Given the description of an element on the screen output the (x, y) to click on. 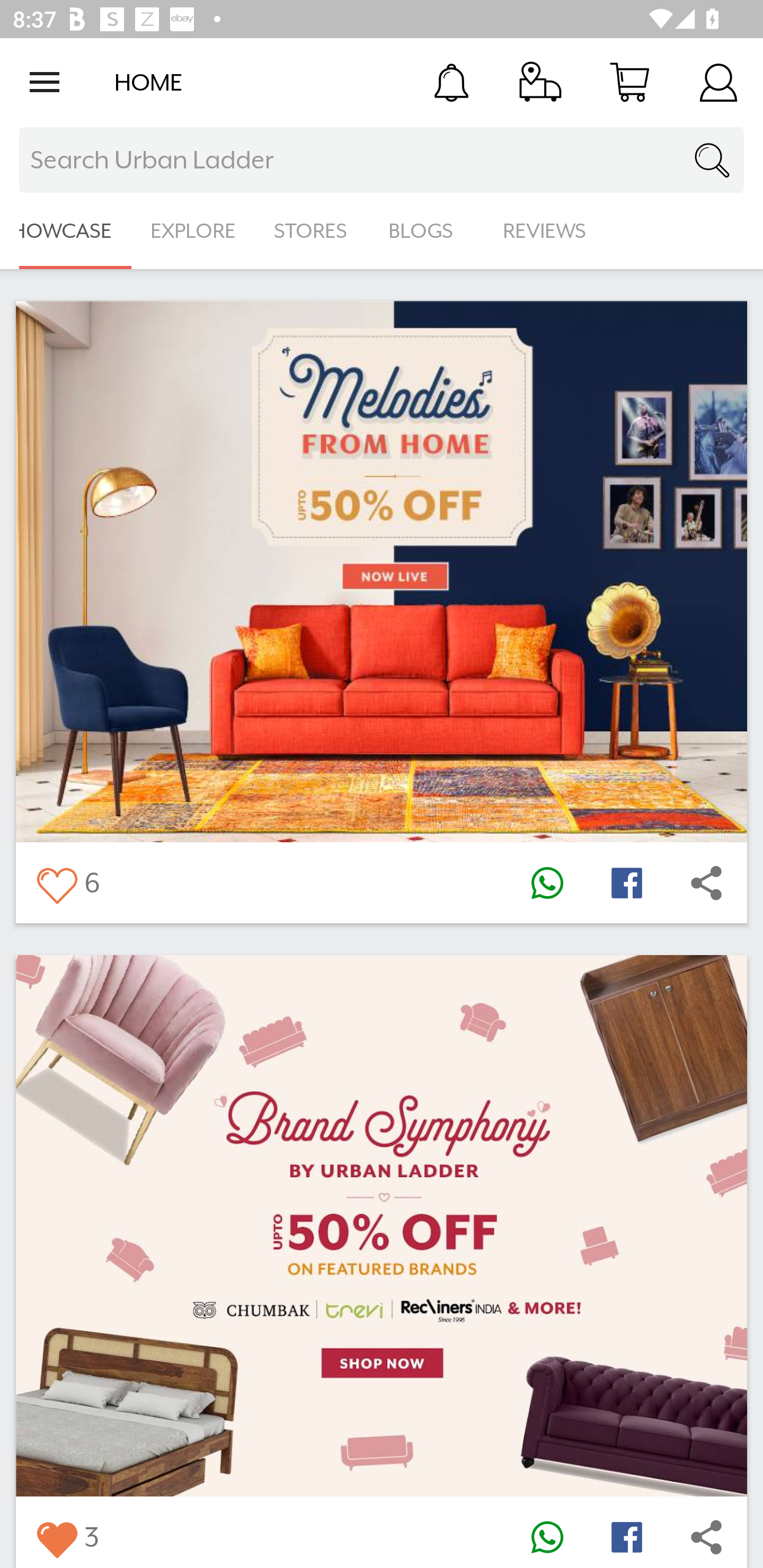
Open navigation drawer (44, 82)
Notification (450, 81)
Track Order (540, 81)
Cart (629, 81)
Account Details (718, 81)
Search Urban Ladder  (381, 159)
SHOWCASE (65, 230)
EXPLORE (192, 230)
STORES (311, 230)
BLOGS (426, 230)
REVIEWS (544, 230)
 (55, 882)
 (547, 882)
 (626, 882)
 (706, 882)
 (55, 1536)
 (547, 1536)
 (626, 1536)
 (706, 1536)
